Given the description of an element on the screen output the (x, y) to click on. 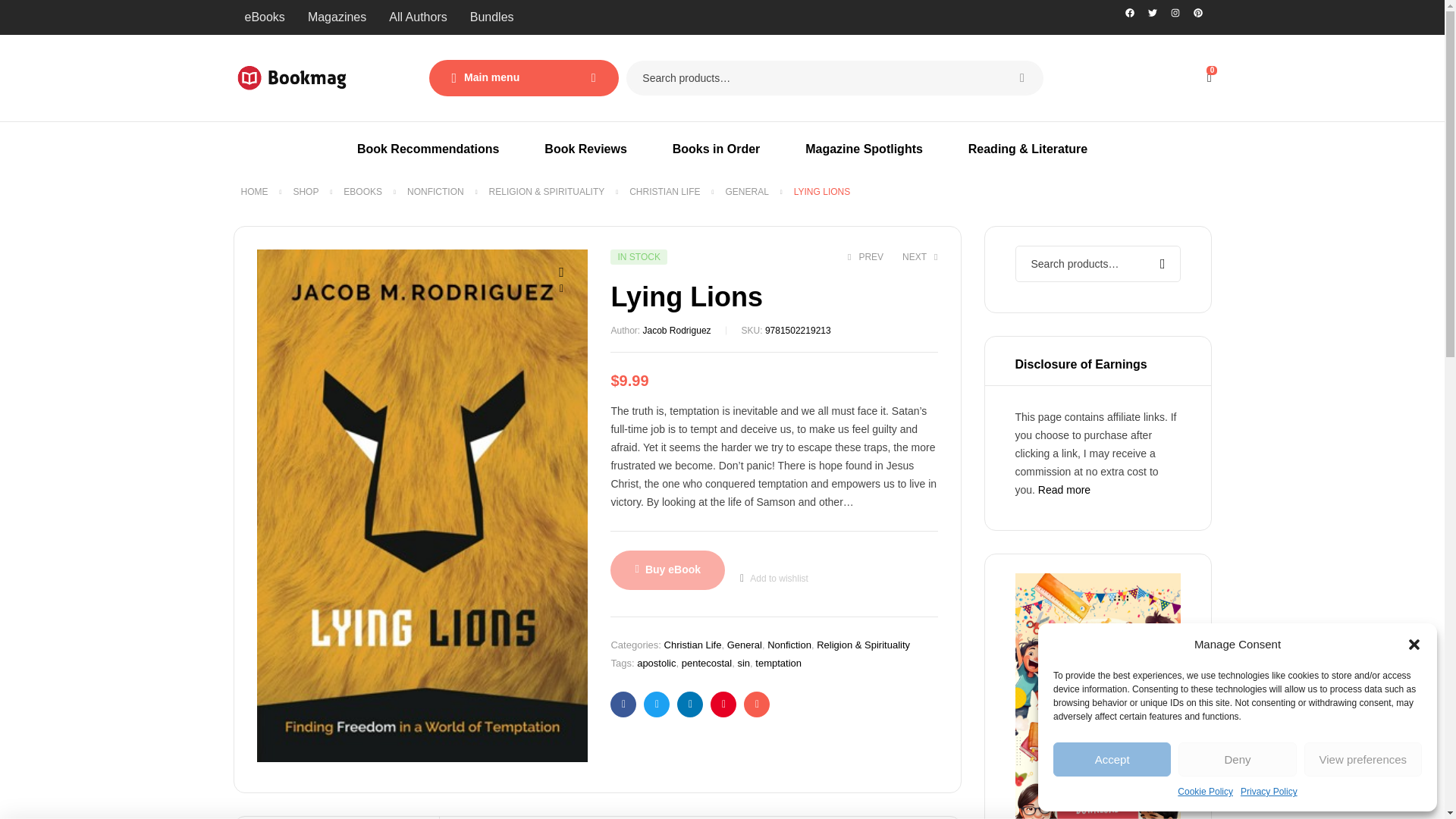
Magazine Spotlights (863, 149)
Deny (1236, 759)
HOME (254, 191)
View preferences (1363, 759)
SHOP (305, 191)
Cookie Policy (1205, 791)
All Authors (417, 17)
Share on facebook (623, 704)
Privacy Policy (1268, 791)
eBooks (264, 17)
Magazines (337, 17)
Share on Twitter (656, 704)
Search (1021, 77)
Email to a Friend (757, 704)
Books in Order (715, 149)
